Given the description of an element on the screen output the (x, y) to click on. 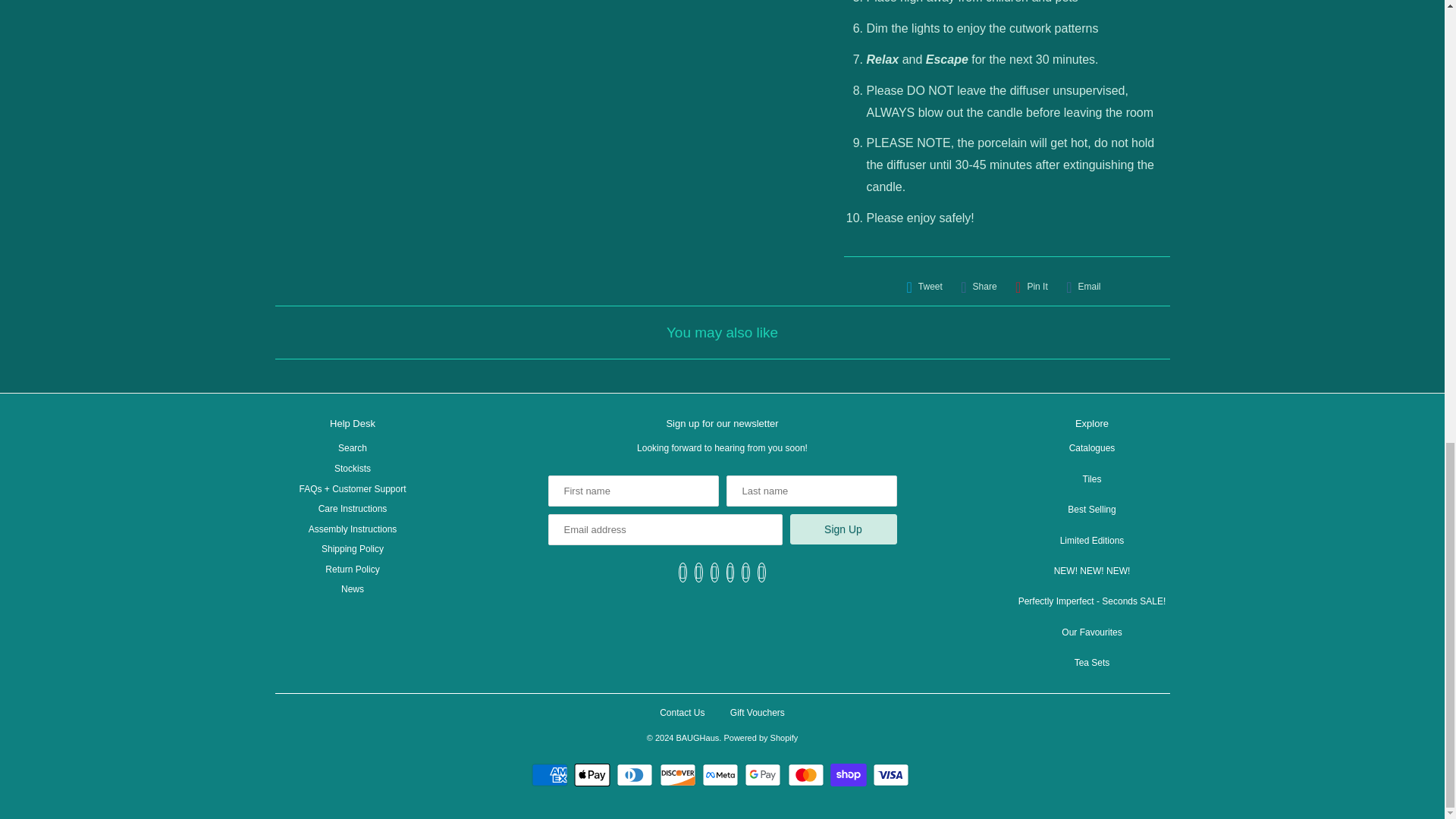
Email this to a friend (1083, 286)
Discover (679, 774)
Visa (892, 774)
American Express (551, 774)
Apple Pay (593, 774)
Meta Pay (721, 774)
Shop Pay (849, 774)
Sign Up (843, 529)
Google Pay (764, 774)
Share this on Twitter (923, 286)
